Given the description of an element on the screen output the (x, y) to click on. 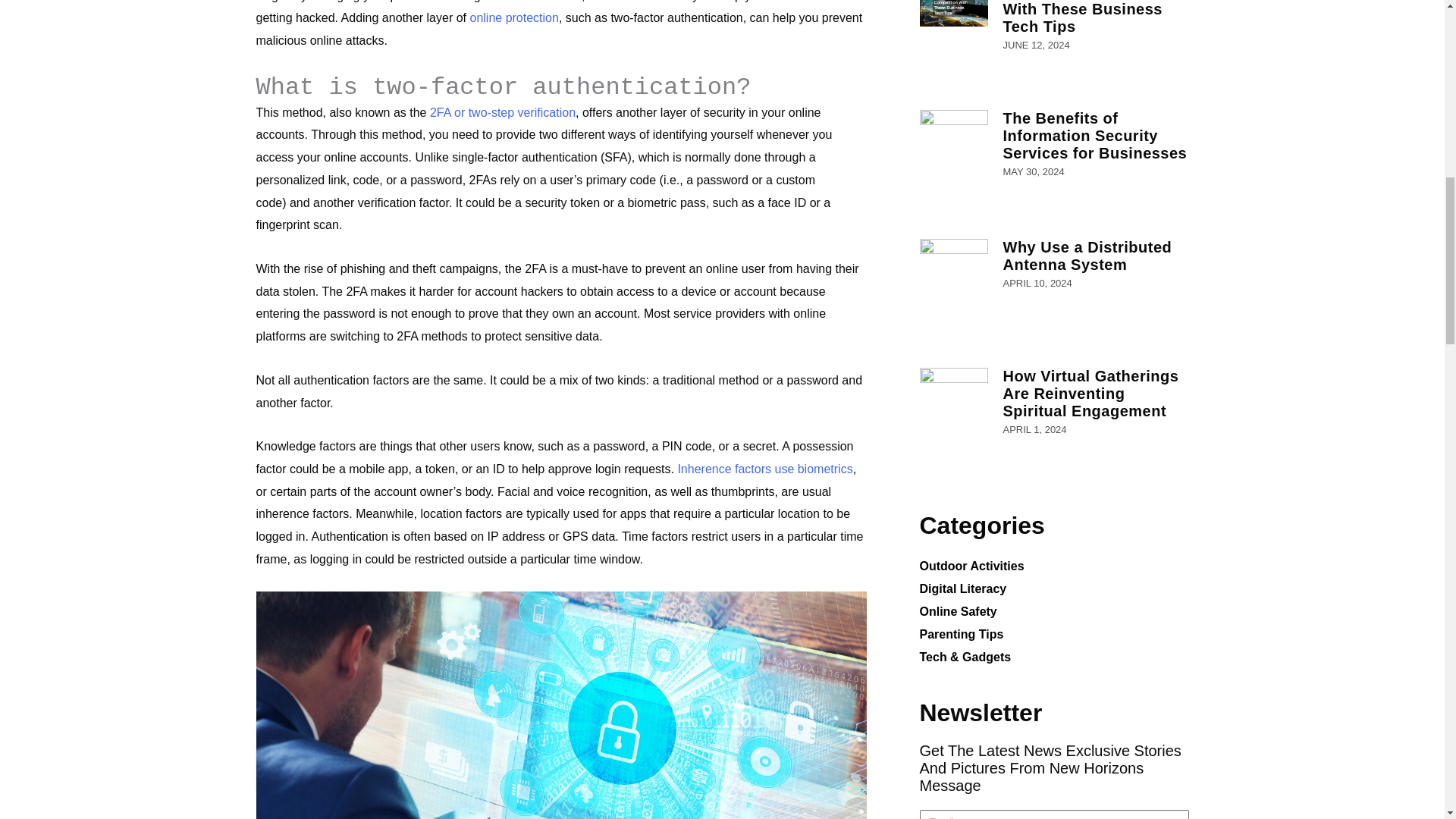
online protection (512, 17)
Inherence factors use biometrics (764, 468)
2FA or two-step verification (502, 112)
Why Use a Distributed Antenna System (1087, 255)
Online Safety (1053, 611)
Digital Literacy (1053, 589)
The Benefits of Information Security Services for Businesses (1094, 135)
Parenting Tips (1053, 634)
Outdoor Activities (1053, 566)
Beat Tough Competition With These Business Tech Tips (1094, 17)
